Given the description of an element on the screen output the (x, y) to click on. 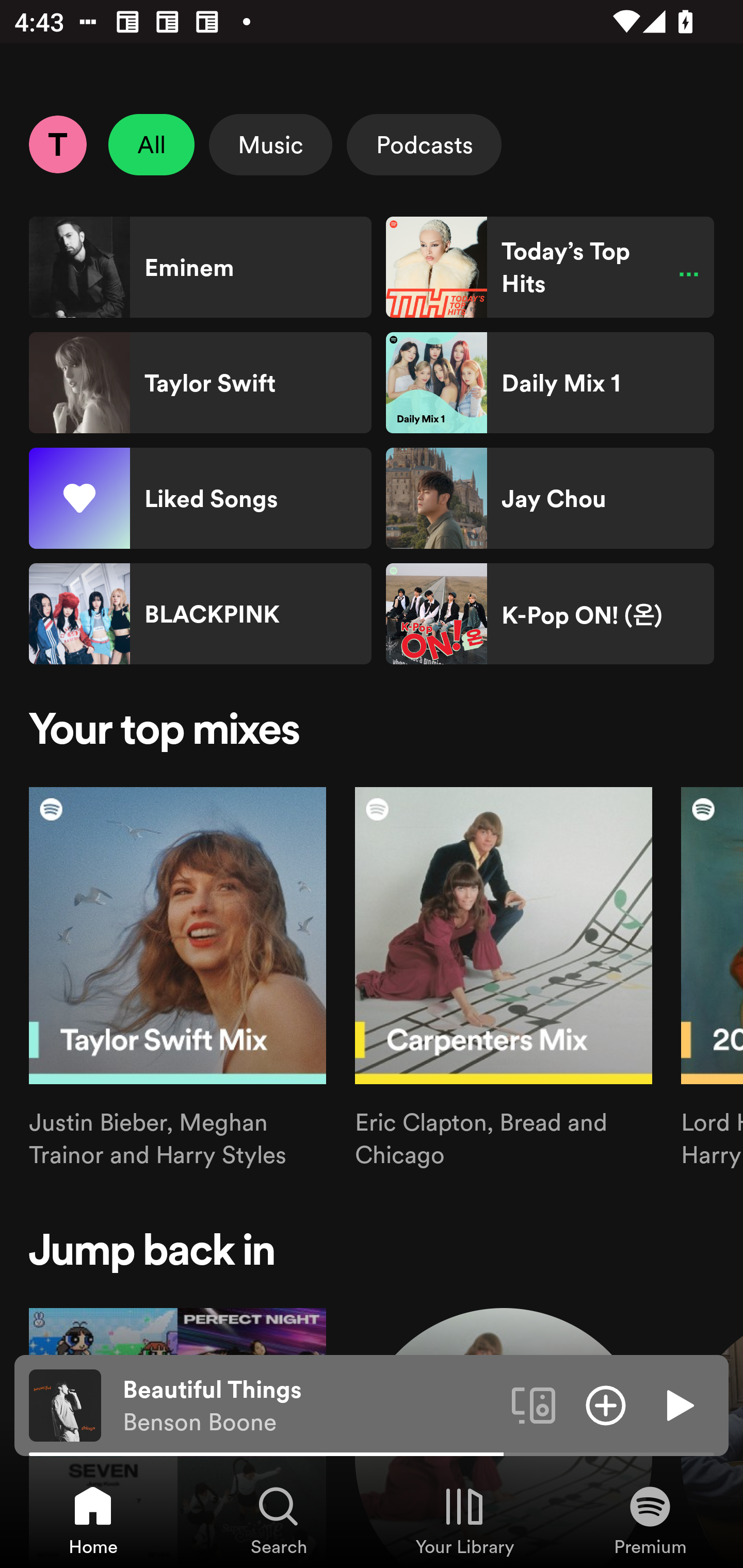
Profile (57, 144)
All Unselect All (151, 144)
Music Select Music (270, 144)
Podcasts Select Podcasts (423, 144)
Eminem Shortcut Eminem (199, 267)
Today’s Top Hits Shortcut Today’s Top Hits Paused (549, 267)
Taylor Swift Shortcut Taylor Swift (199, 382)
Daily Mix 1 Shortcut Daily Mix 1 (549, 382)
Liked Songs Shortcut Liked Songs (199, 498)
Jay Chou Shortcut Jay Chou (549, 498)
BLACKPINK Shortcut BLACKPINK (199, 613)
K-Pop ON! (온) Shortcut K-Pop ON! (온) (549, 613)
Beautiful Things Benson Boone (309, 1405)
The cover art of the currently playing track (64, 1404)
Connect to a device. Opens the devices menu (533, 1404)
Add item (605, 1404)
Play (677, 1404)
Home, Tab 1 of 4 Home Home (92, 1519)
Search, Tab 2 of 4 Search Search (278, 1519)
Your Library, Tab 3 of 4 Your Library Your Library (464, 1519)
Premium, Tab 4 of 4 Premium Premium (650, 1519)
